Given the description of an element on the screen output the (x, y) to click on. 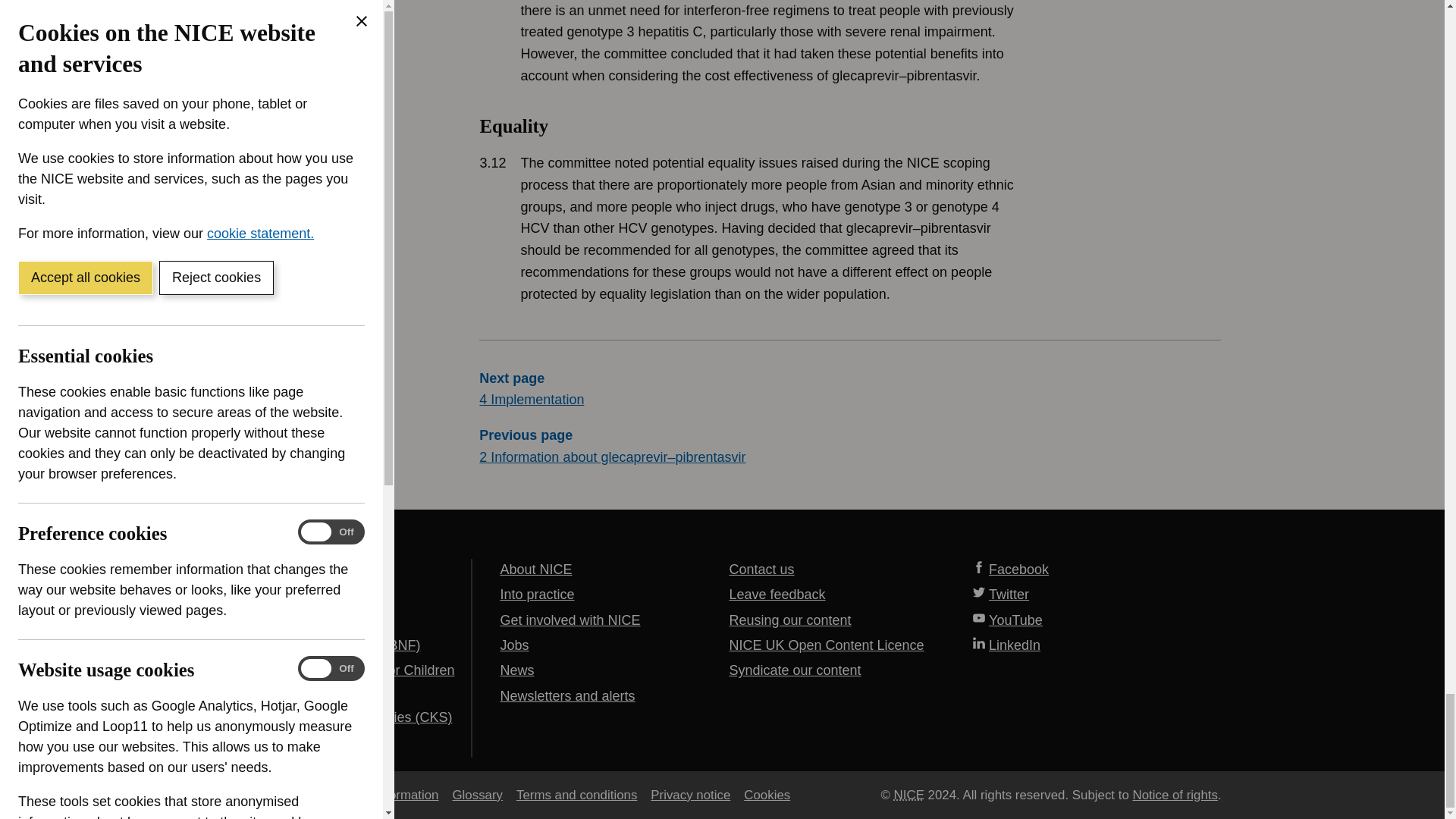
National Institute for Health and Care Excellence (908, 794)
Innovation (850, 43)
